Given the description of an element on the screen output the (x, y) to click on. 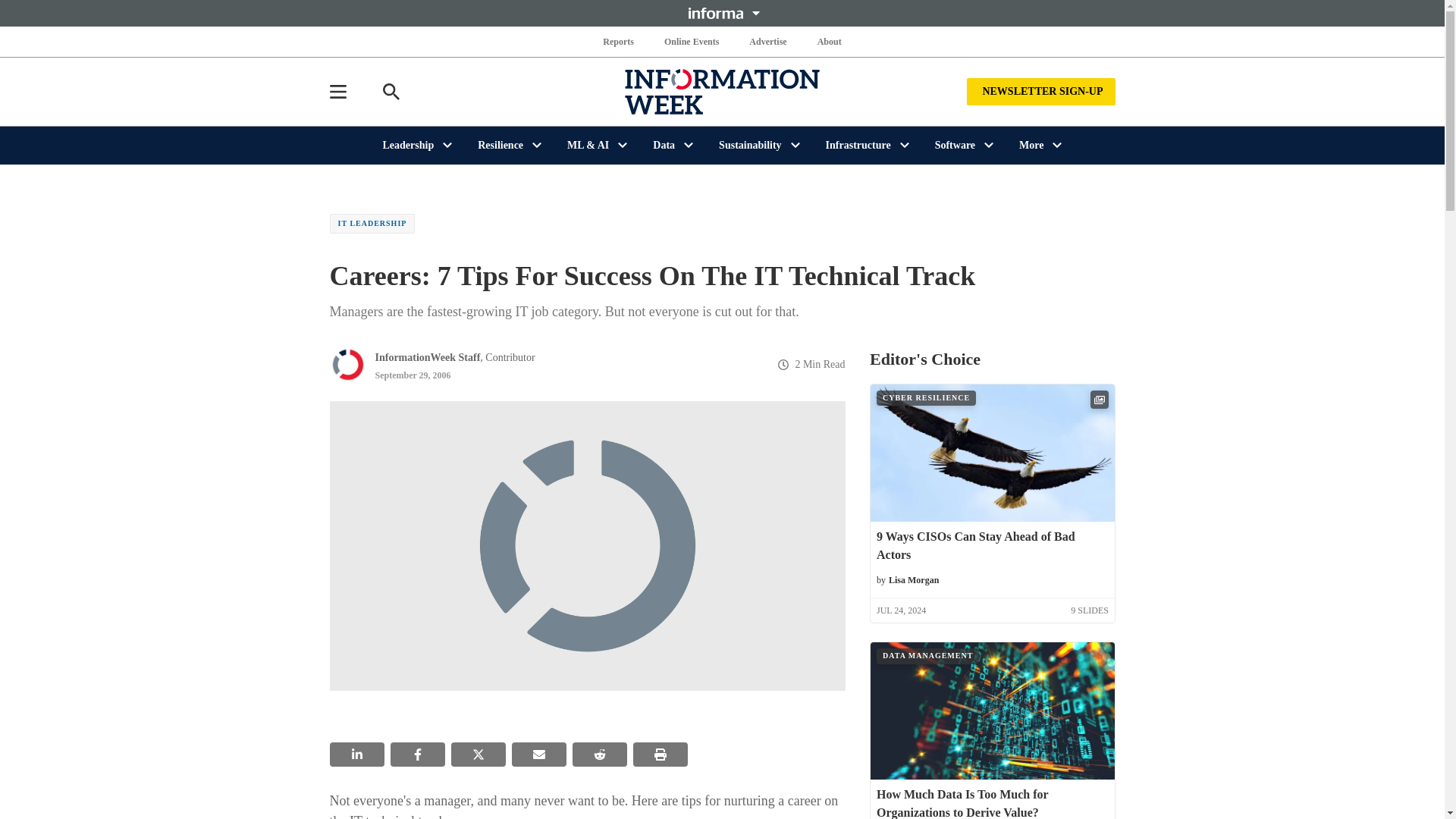
About (828, 41)
Reports (618, 41)
Advertise (767, 41)
Online Events (691, 41)
NEWSLETTER SIGN-UP (1040, 90)
InformationWeek (722, 91)
